Given the description of an element on the screen output the (x, y) to click on. 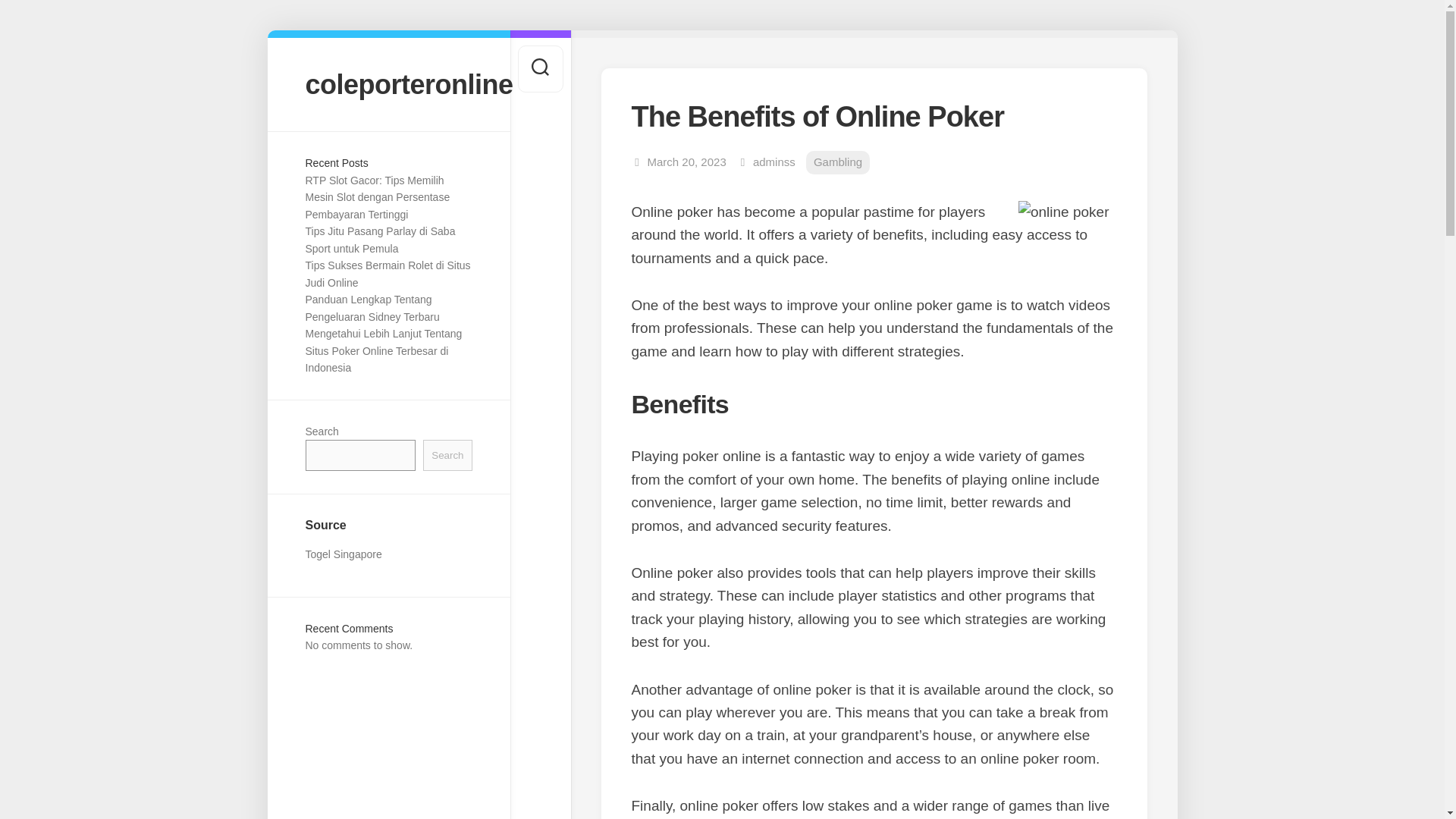
Search (447, 454)
Panduan Lengkap Tentang Pengeluaran Sidney Terbaru (371, 307)
Tips Sukses Bermain Rolet di Situs Judi Online (387, 274)
Posts by adminss (773, 161)
coleporteronline (387, 83)
adminss (773, 161)
Gambling (837, 162)
Togel Singapore (342, 553)
